Given the description of an element on the screen output the (x, y) to click on. 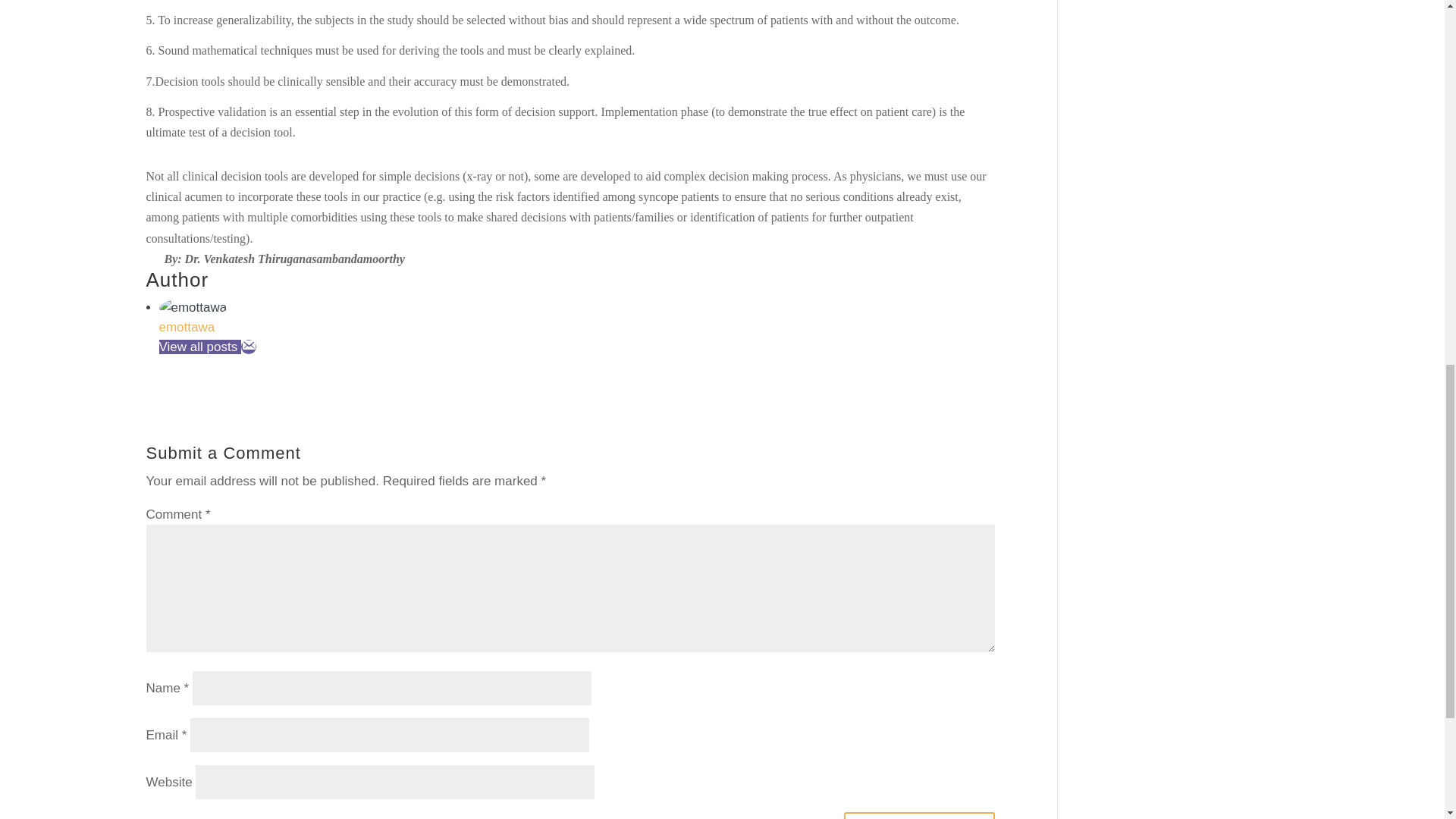
emottawa (186, 327)
emottawa (186, 327)
Submit Comment (919, 815)
View all posts (199, 346)
Submit Comment (919, 815)
View all posts (199, 346)
